Given the description of an element on the screen output the (x, y) to click on. 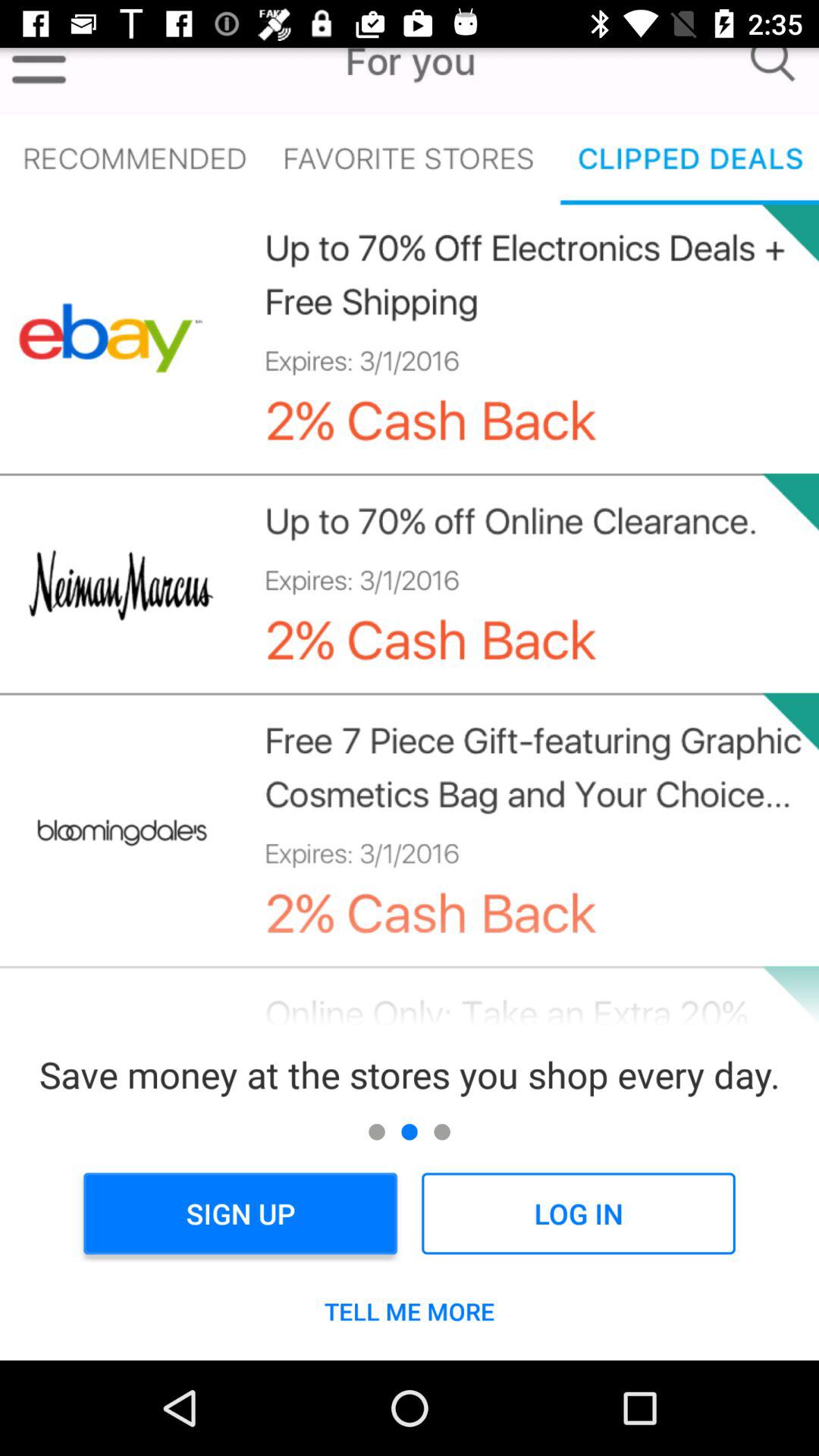
jump until sign up item (240, 1213)
